Given the description of an element on the screen output the (x, y) to click on. 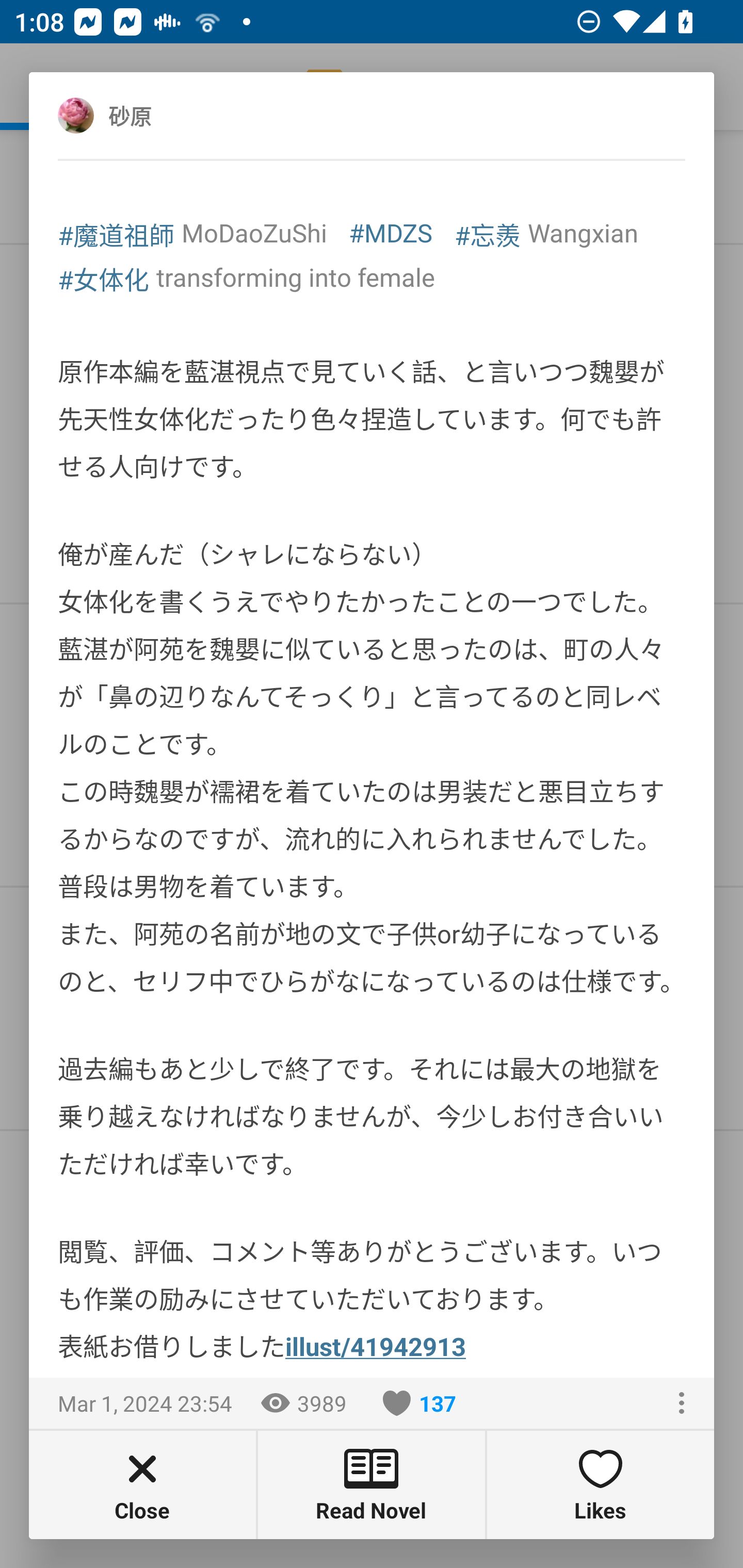
砂原 (151, 115)
#魔道祖師 (115, 234)
MoDaoZuShi (253, 232)
#MDZS (390, 232)
#忘羨 (487, 234)
Wangxian (582, 232)
#女体化 (103, 278)
transforming into female (295, 277)
137 (419, 1403)
Close (141, 1484)
Read Novel (371, 1484)
